Given the description of an element on the screen output the (x, y) to click on. 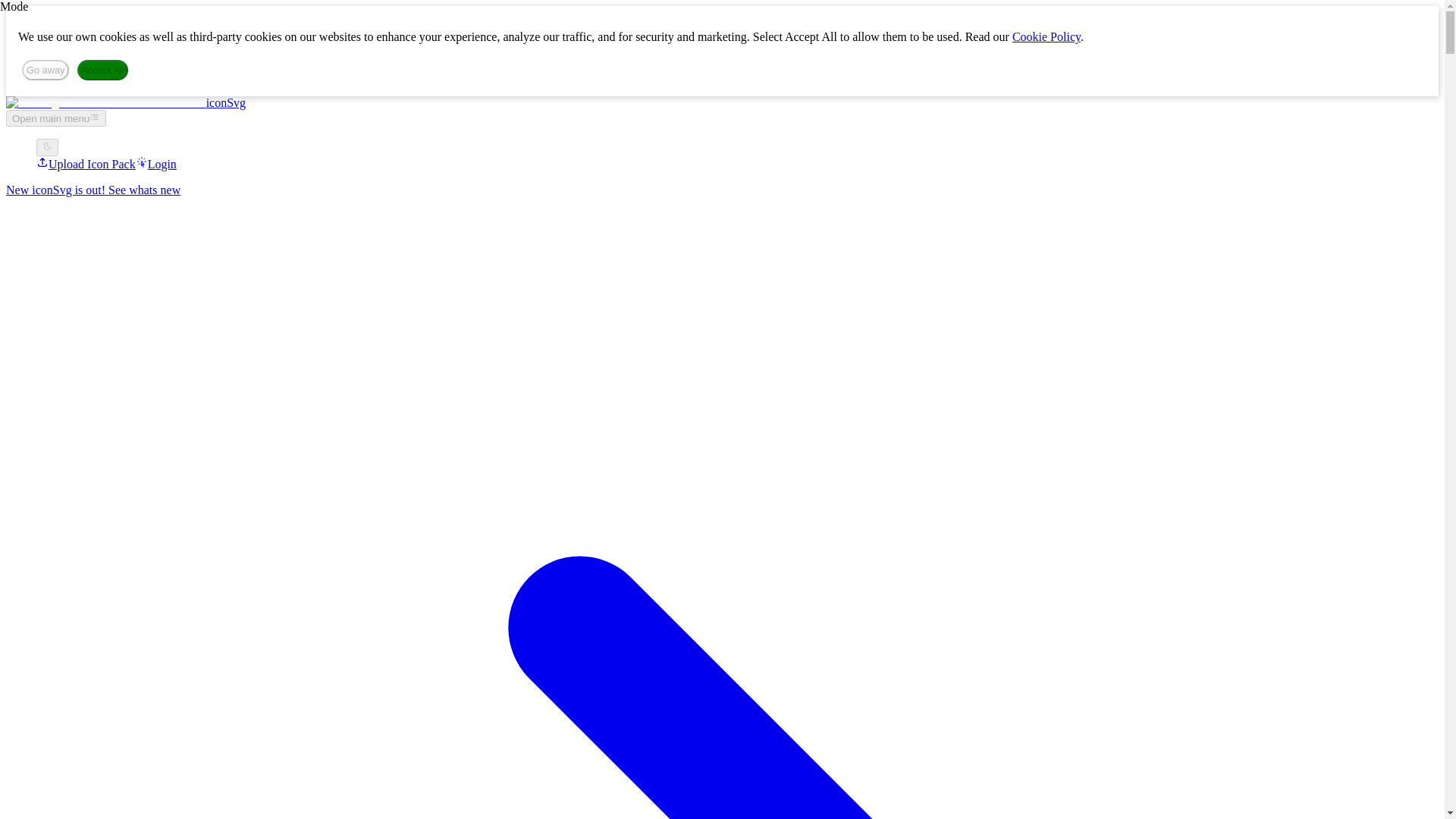
iconSvg (125, 102)
Accept All (103, 69)
Cookie Policy (1045, 36)
Go away (44, 69)
Upload Icon Pack (85, 164)
Open main menu (55, 117)
Login (155, 164)
